Given the description of an element on the screen output the (x, y) to click on. 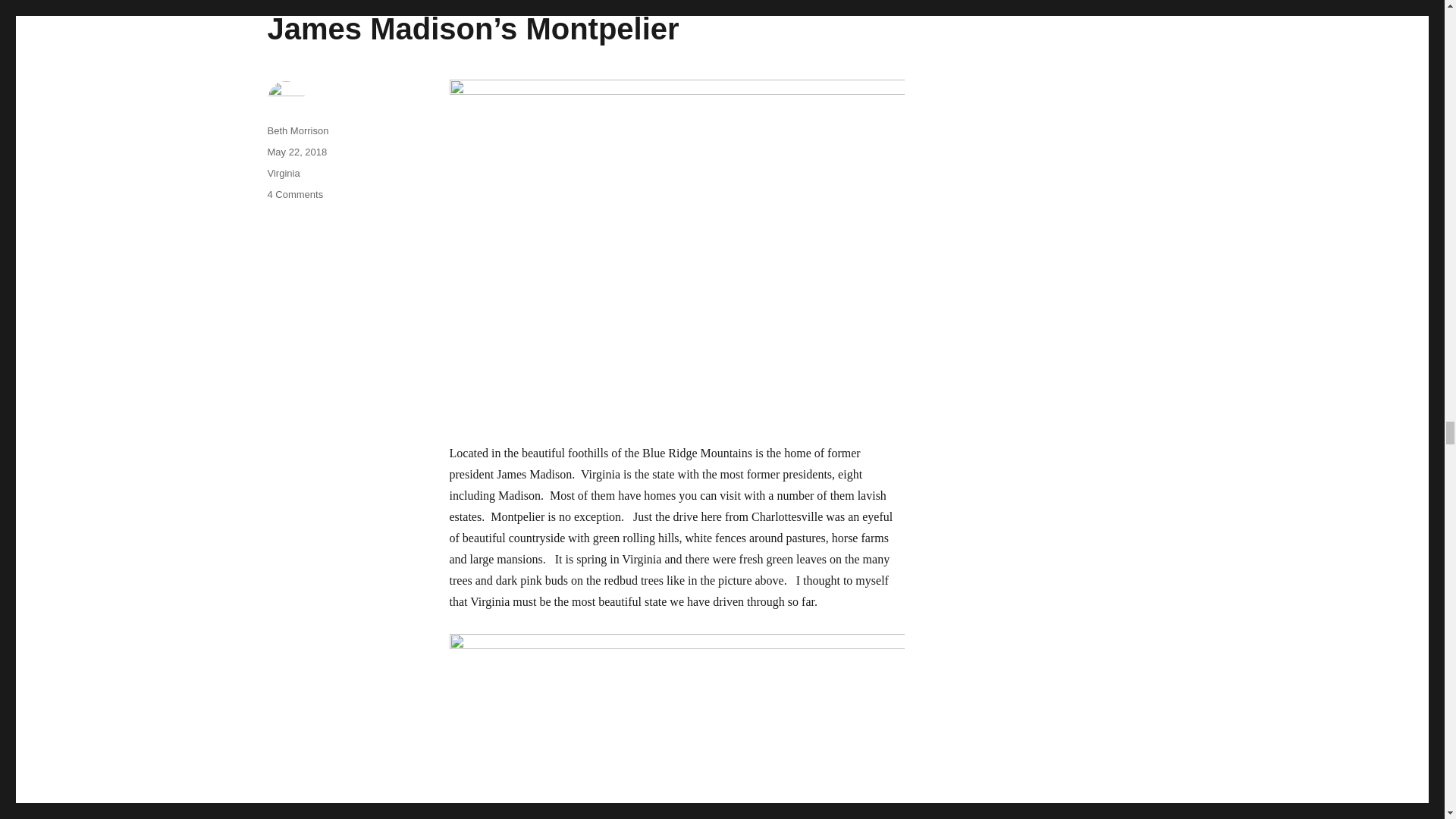
Virginia (282, 173)
Beth Morrison (297, 130)
May 22, 2018 (296, 152)
